Given the description of an element on the screen output the (x, y) to click on. 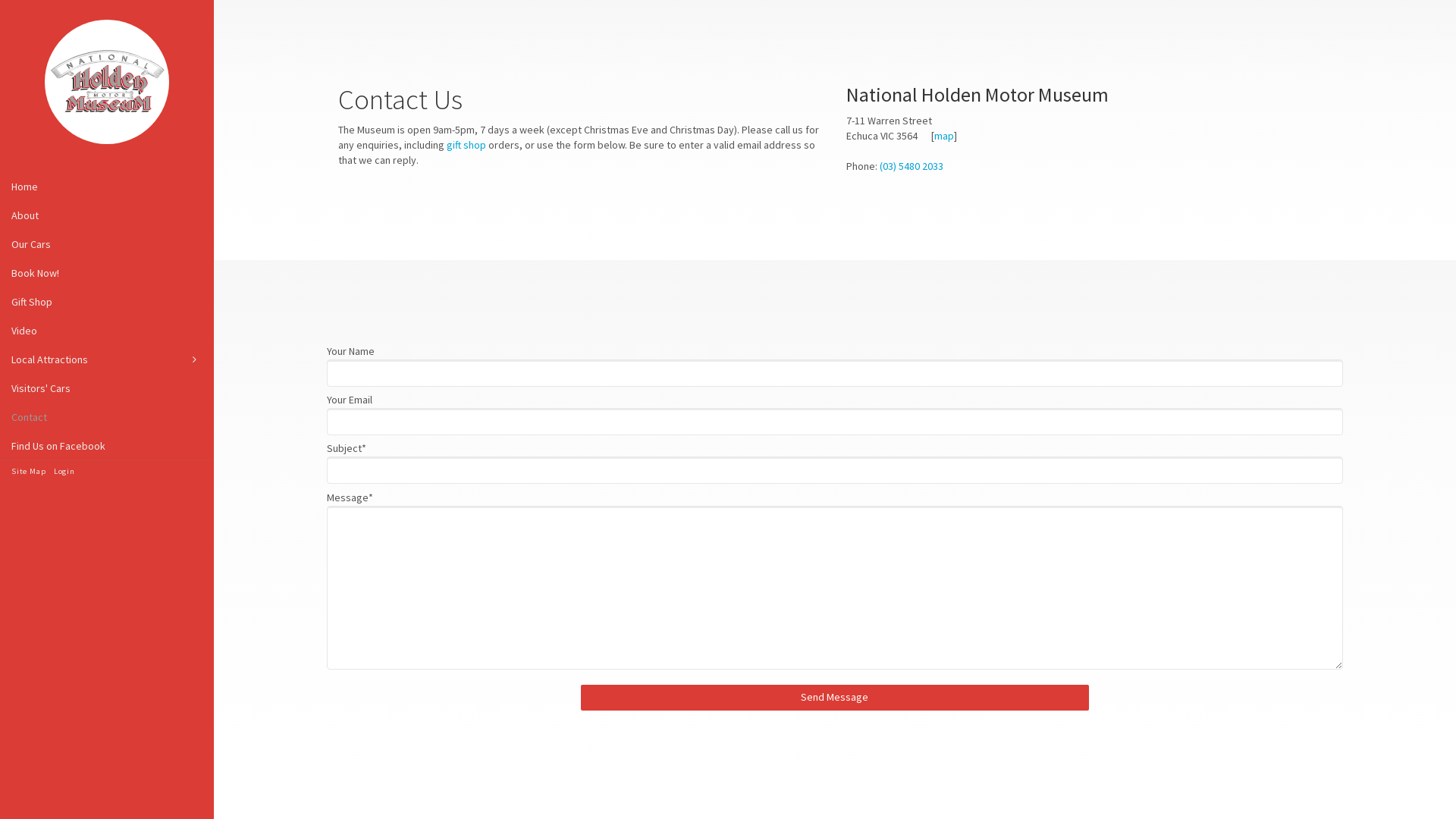
Find Us on Facebook Element type: text (106, 445)
Home Element type: text (106, 186)
gift shop Element type: text (466, 144)
map Element type: text (943, 135)
(03) 5480 2033 Element type: text (911, 165)
Gift Shop Element type: text (106, 301)
Visitors' Cars Element type: text (106, 387)
Send Message Element type: text (834, 697)
Our Cars Element type: text (106, 243)
Book Now! Element type: text (106, 272)
Video Element type: text (106, 330)
Contact Element type: text (106, 416)
Login Element type: text (64, 471)
Site Map Element type: text (28, 471)
About Element type: text (106, 214)
Local Attractions Element type: text (106, 359)
